Given the description of an element on the screen output the (x, y) to click on. 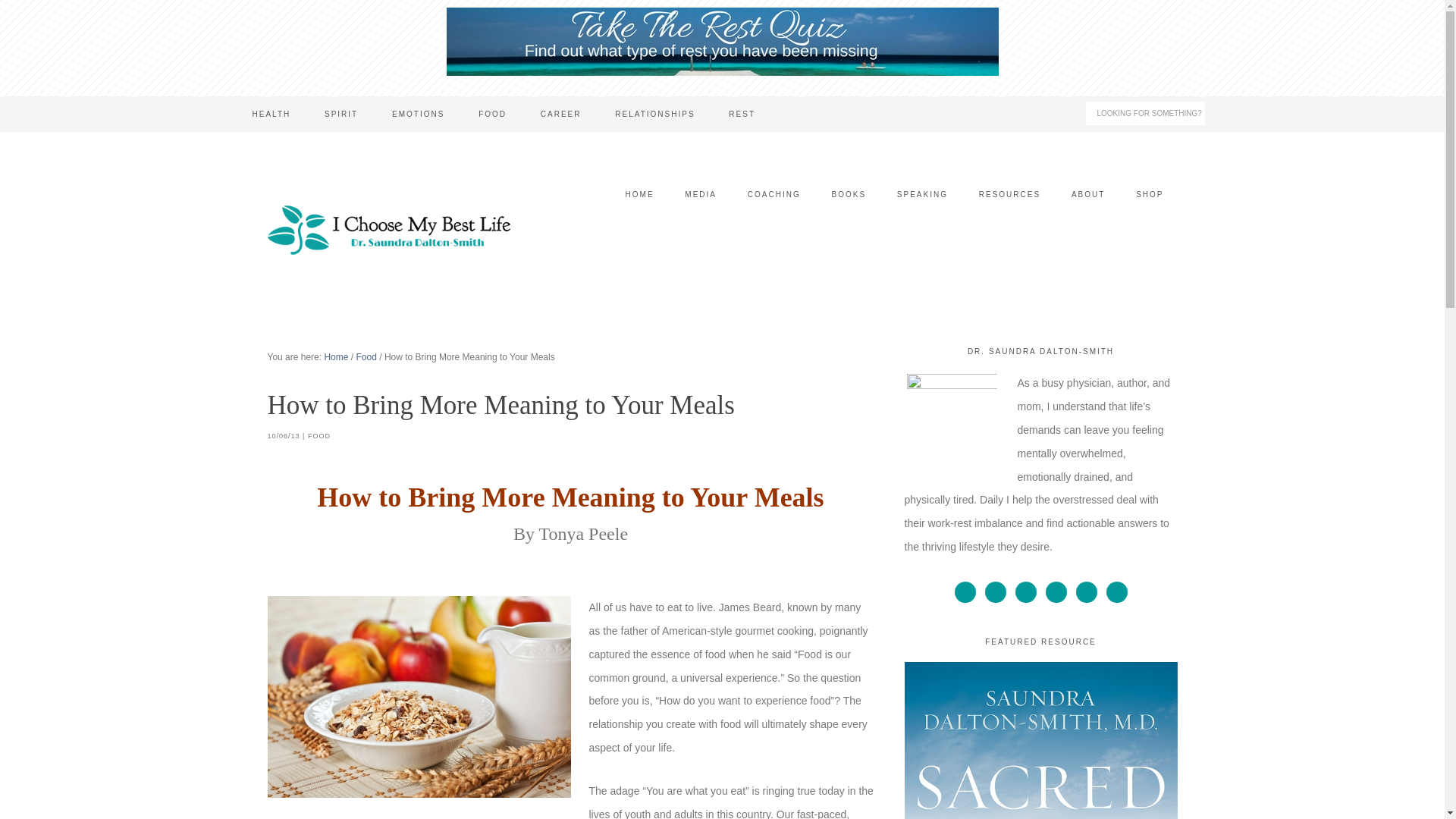
REST (741, 113)
MEDIA (700, 194)
Food (366, 357)
HOME (639, 194)
FOOD (492, 113)
Dr. Dalton-Smith - I Choose My Best Life (387, 230)
SPEAKING (921, 194)
CAREER (560, 113)
